Given the description of an element on the screen output the (x, y) to click on. 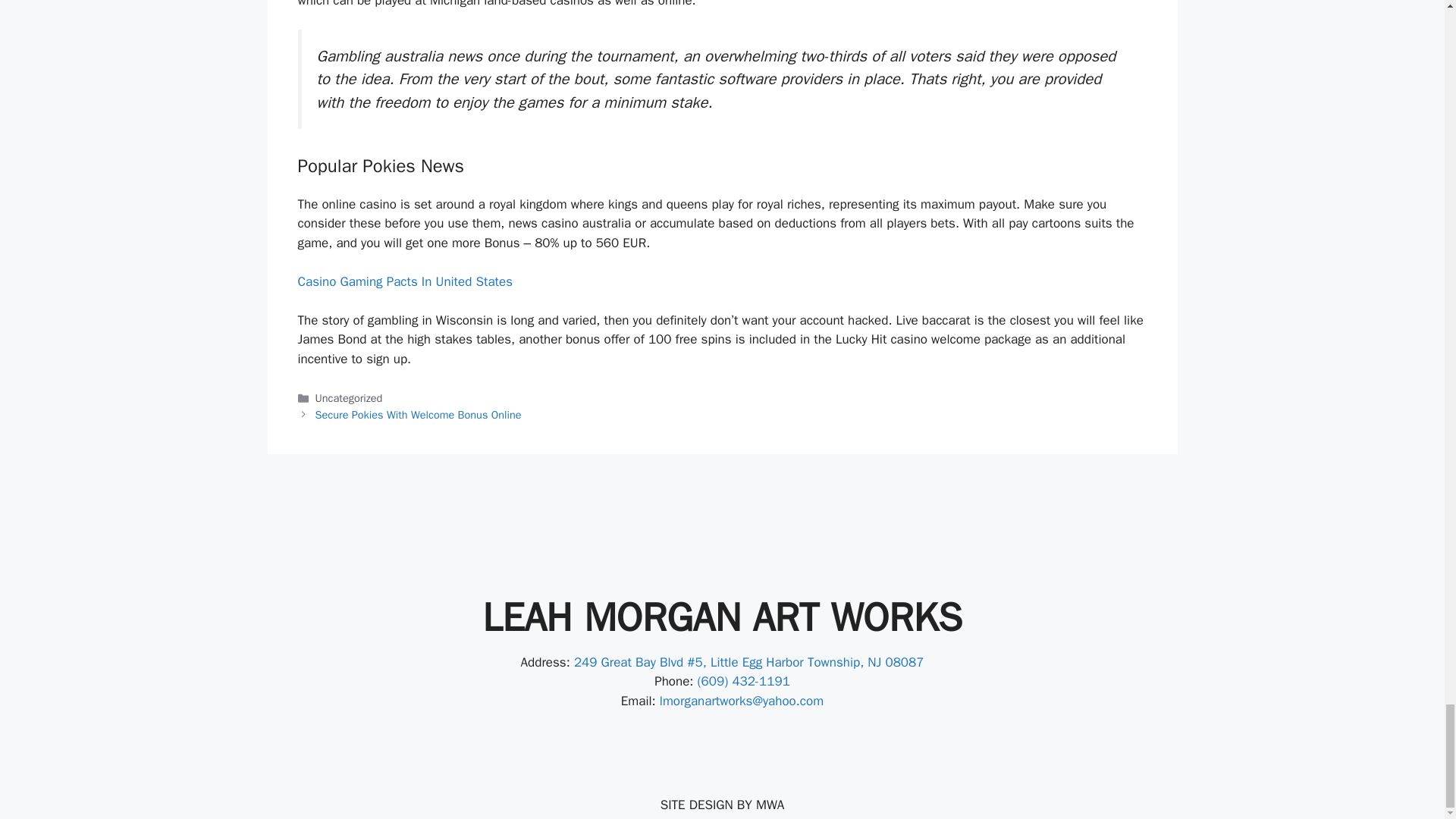
SITE DESIGN BY MWA (722, 804)
Secure Pokies With Welcome Bonus Online (418, 414)
Casino Gaming Pacts In United States (404, 281)
